Given the description of an element on the screen output the (x, y) to click on. 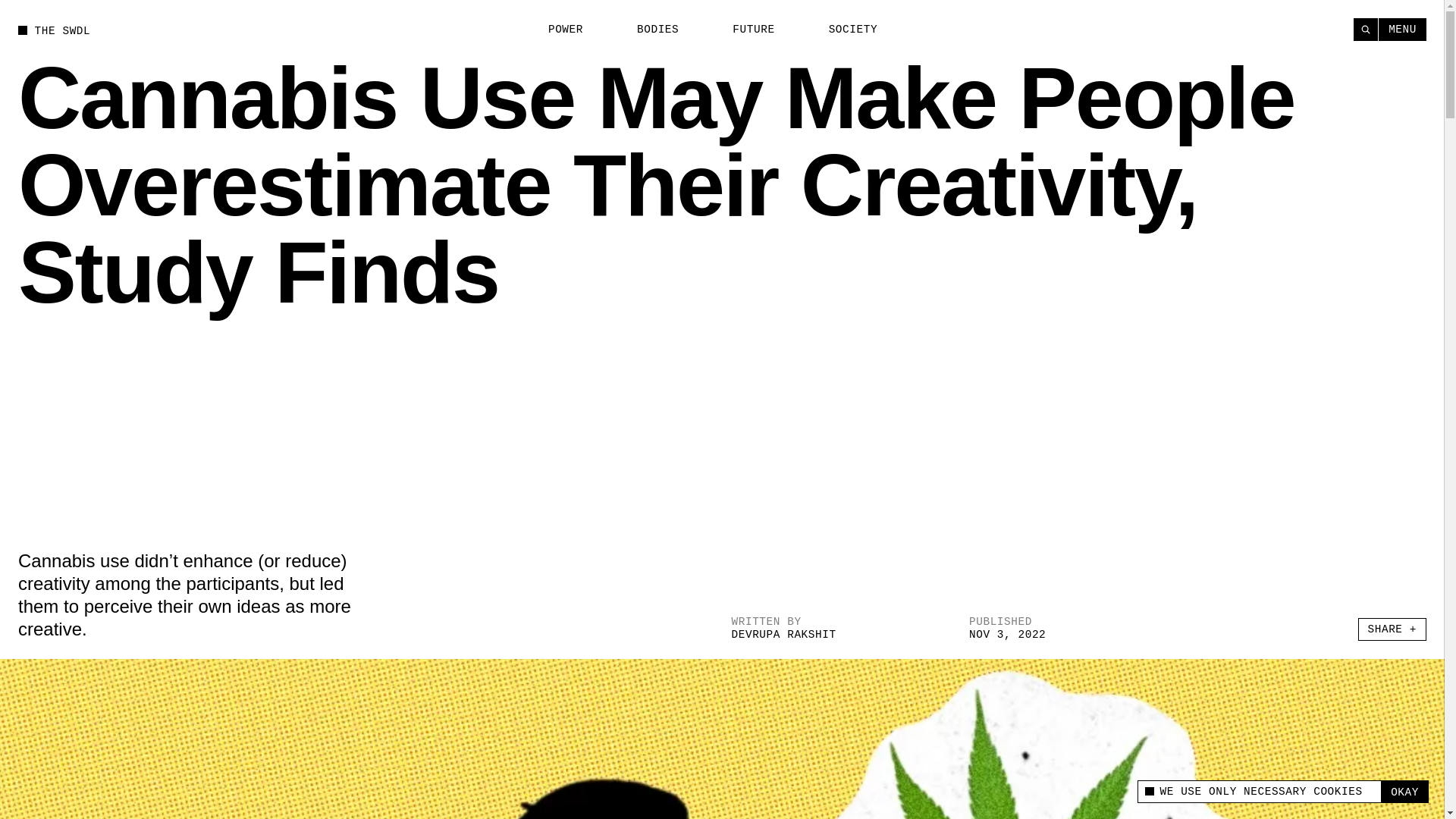
OKAY (1404, 791)
WE USE ONLY NECESSARY COOKIES (1259, 791)
SOCIETY (843, 29)
BODIES (649, 29)
DEVRUPA RAKSHIT (782, 634)
MENU (1402, 29)
POWER (557, 29)
FUTURE (744, 29)
THE SWDL (53, 29)
